Given the description of an element on the screen output the (x, y) to click on. 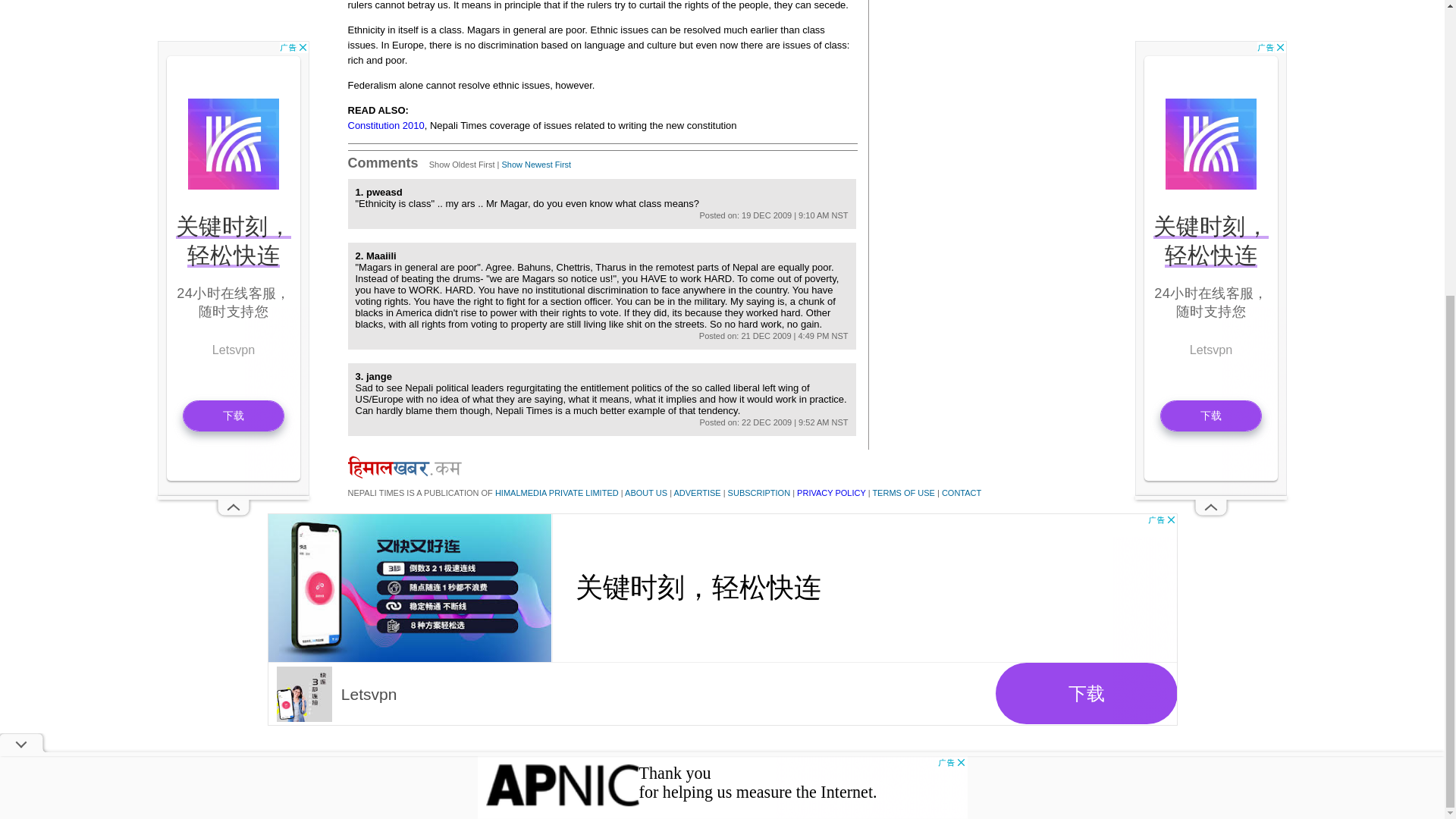
SUBSCRIPTION (759, 492)
Show Newest First (535, 163)
Advertisement (722, 333)
CONTACT (961, 492)
Show Newest First (535, 163)
Advertisement (1211, 20)
PRIVACY POLICY (830, 492)
HIMALMEDIA PRIVATE LIMITED (556, 492)
himalkhabar.com (404, 466)
ADVERTISE (696, 492)
Constitution 2010 (385, 125)
Advertisement (232, 20)
ABOUT US (645, 492)
TERMS OF USE (903, 492)
